Given the description of an element on the screen output the (x, y) to click on. 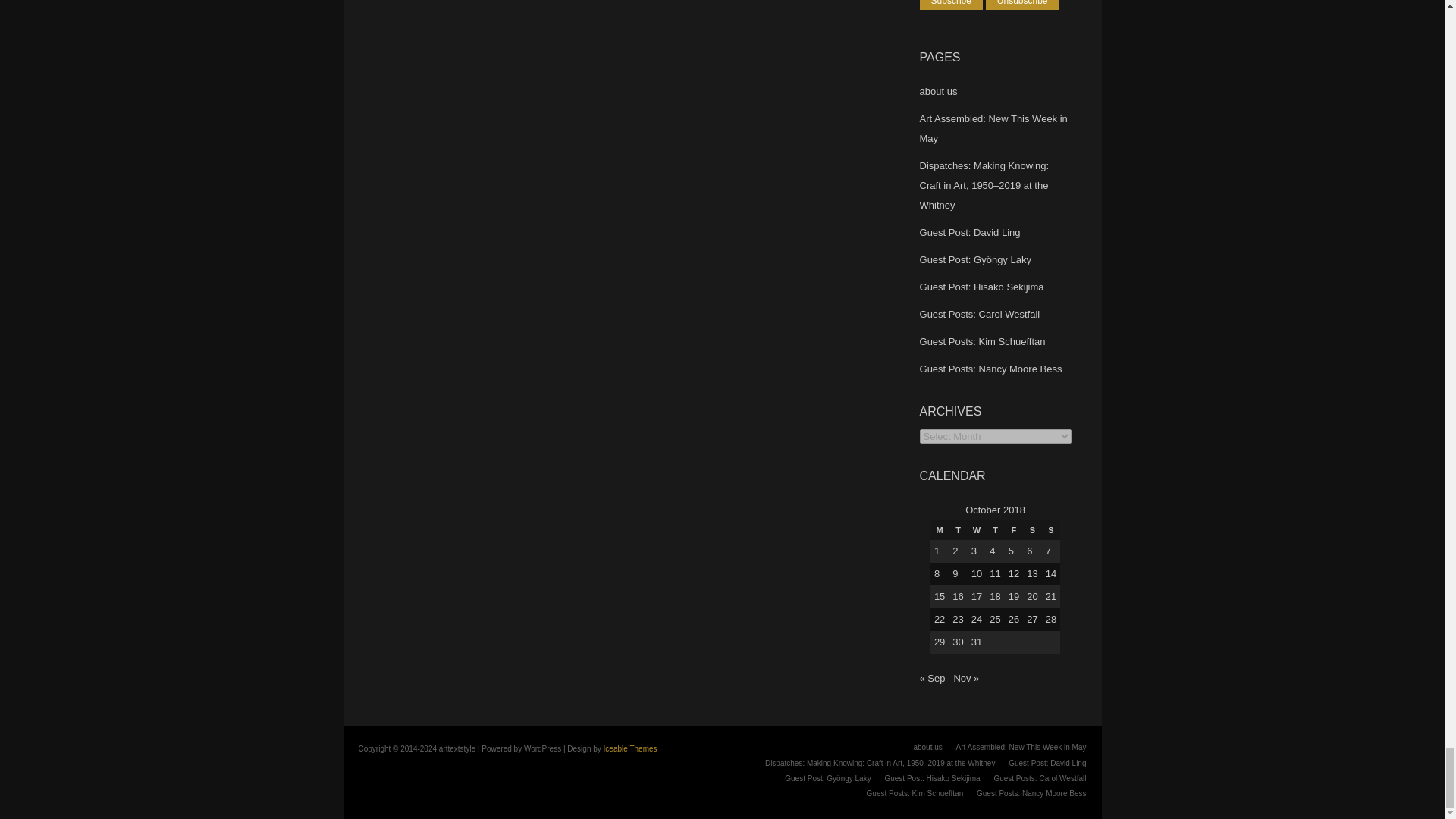
Monday (939, 529)
Unsubscribe (1022, 4)
Subscribe (951, 4)
Wednesday (976, 529)
Tuesday (957, 529)
